Given the description of an element on the screen output the (x, y) to click on. 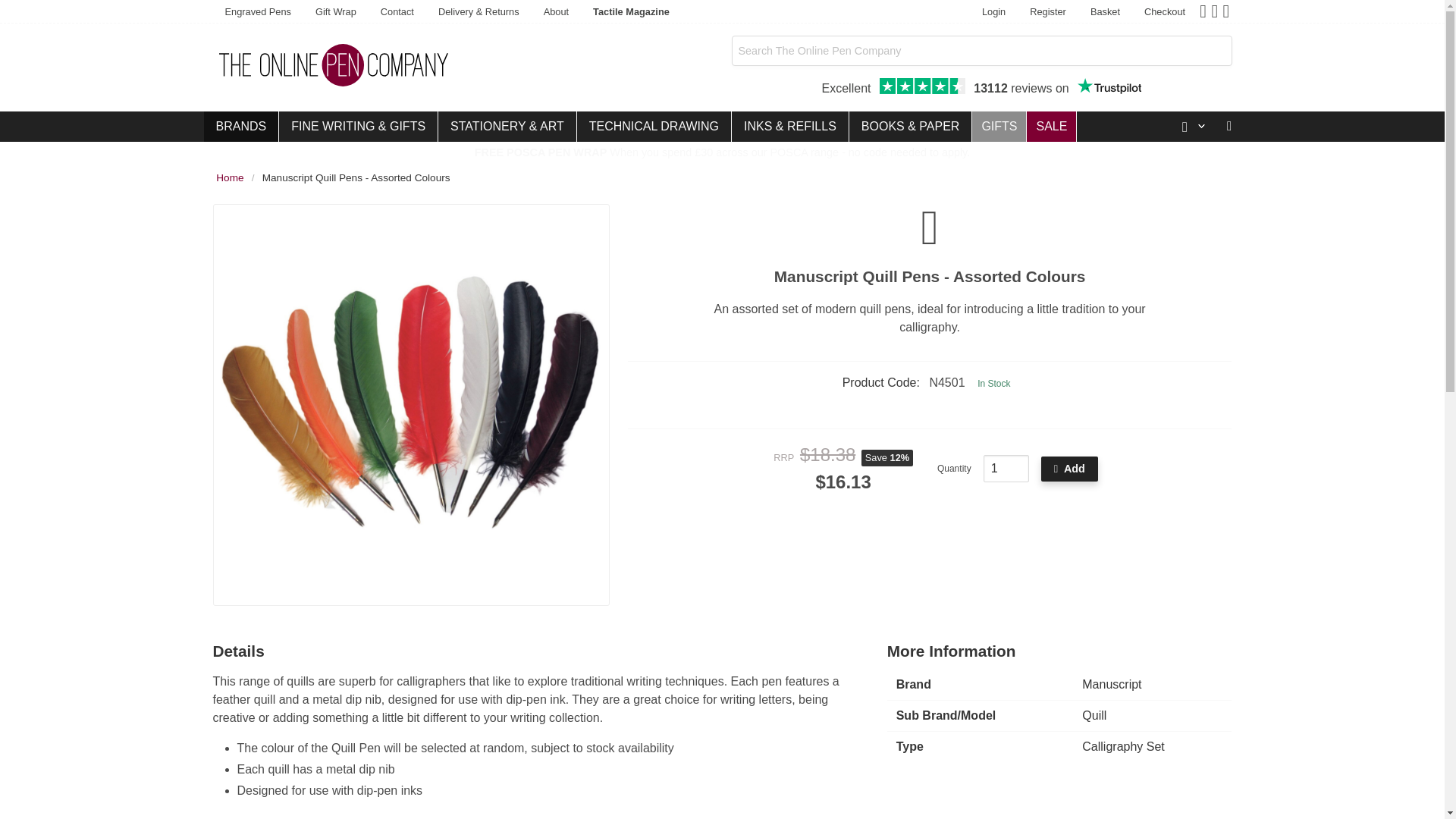
About (555, 11)
Register (980, 88)
Gift Wrap (1047, 11)
Tactile Magazine (335, 11)
Basket (630, 11)
Login (1105, 11)
1 (993, 11)
Trustpilot (1006, 468)
Contact (1109, 85)
Checkout (397, 11)
BRANDS (1164, 11)
Engraved Pens (240, 126)
